Given the description of an element on the screen output the (x, y) to click on. 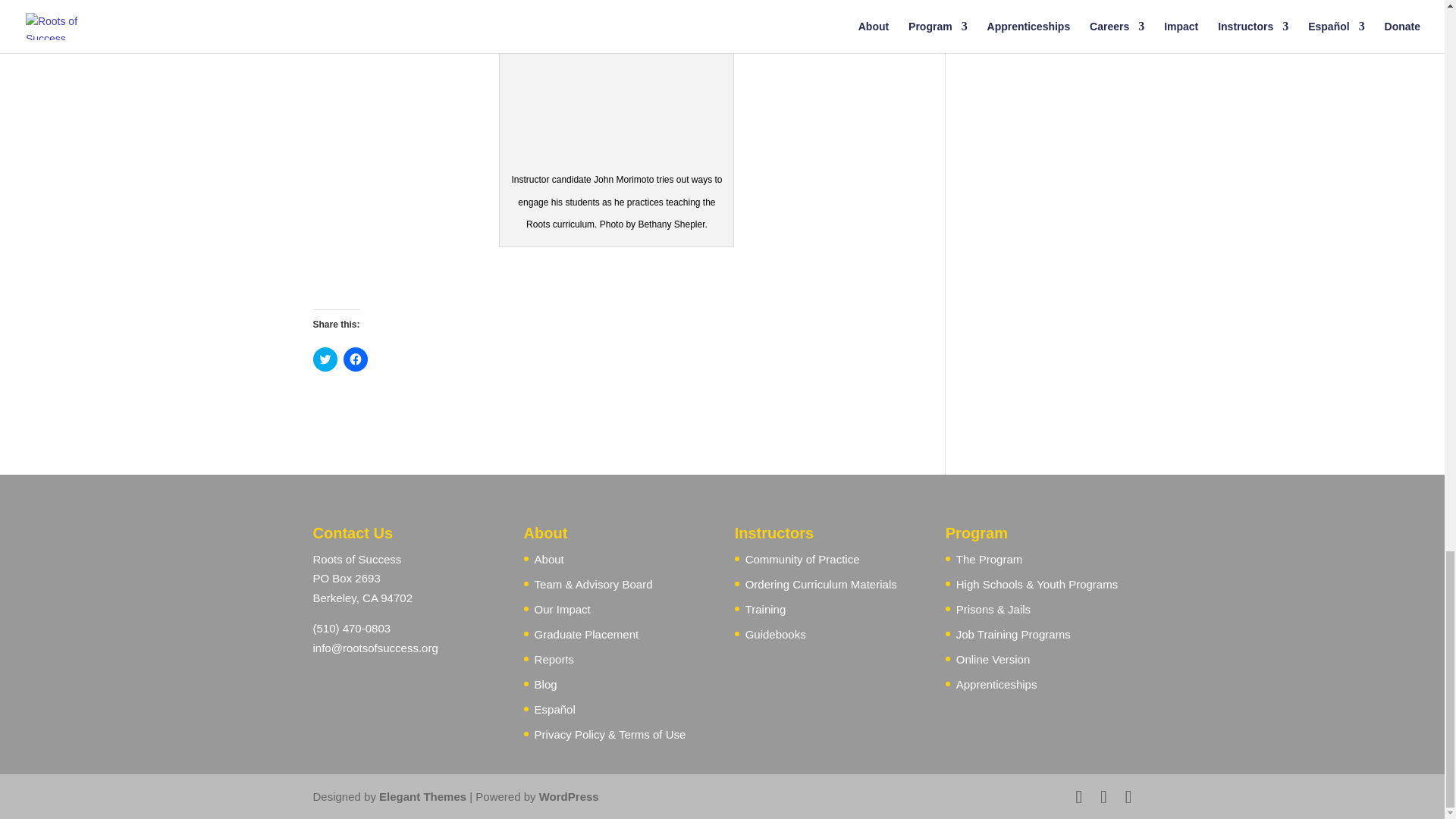
Premium WordPress Themes (421, 796)
Click to share on Facebook (354, 359)
Click to share on Twitter (324, 359)
